Given the description of an element on the screen output the (x, y) to click on. 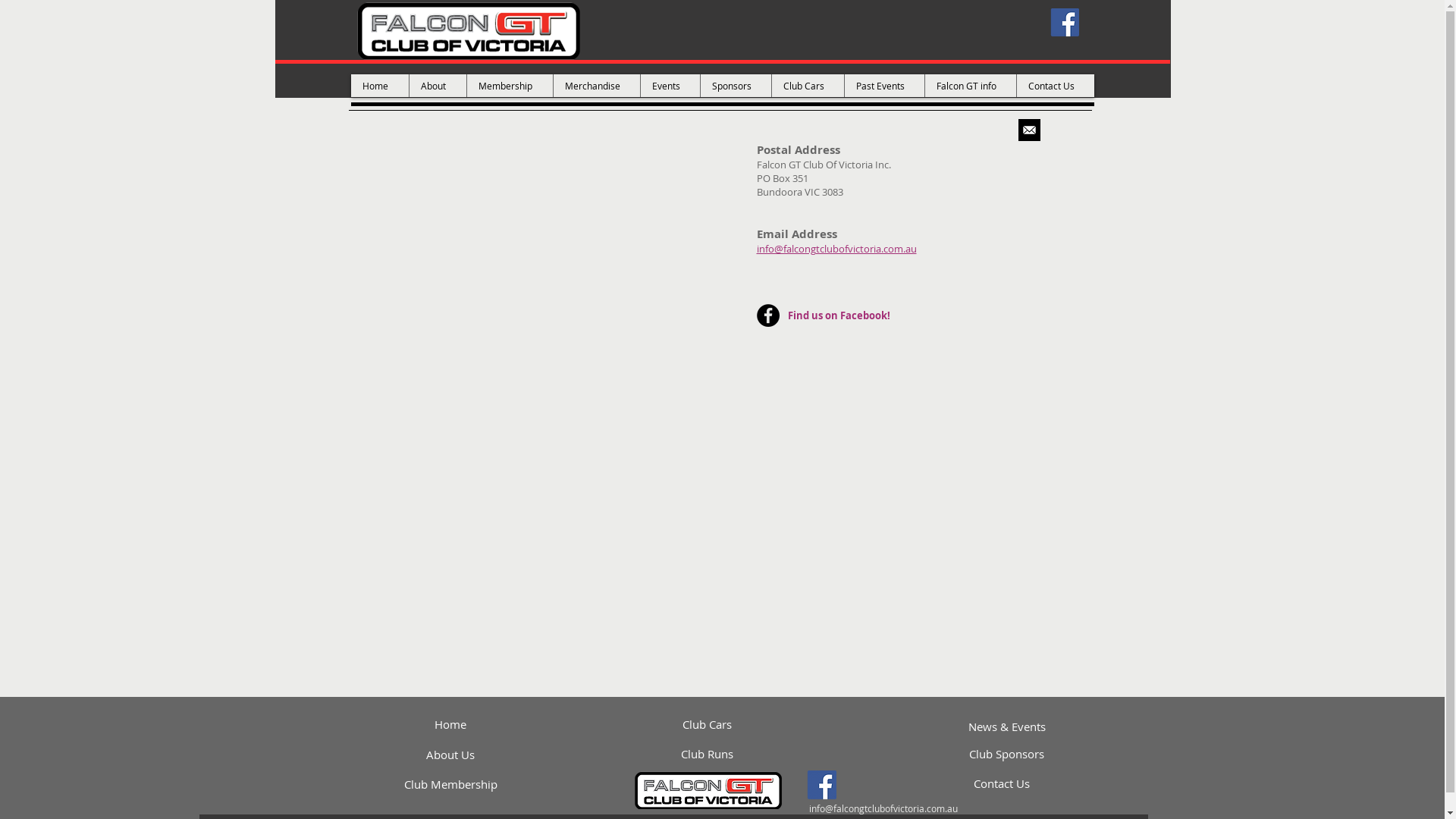
Past Events Element type: text (883, 85)
Club Cars Element type: text (806, 85)
Google Maps Element type: hover (921, 422)
Club Sponsors Element type: text (1006, 753)
About Element type: text (436, 85)
Contact Us Element type: text (1055, 85)
Home Element type: text (378, 85)
Events Element type: text (669, 85)
About Us Element type: text (449, 754)
Sponsors Element type: text (734, 85)
Contact Us Element type: text (1001, 783)
info@falcongtclubofvictoria.com.au Element type: text (882, 808)
Merchandise Element type: text (595, 85)
Home Element type: text (449, 724)
info@falcongtclubofvictoria.com.au Element type: text (836, 248)
Club Membership Element type: text (450, 783)
Club Runs Element type: text (707, 753)
Club Cars Element type: text (707, 724)
News & Events Element type: text (1006, 726)
Falcon GT info Element type: text (969, 85)
Membership Element type: text (508, 85)
